Given the description of an element on the screen output the (x, y) to click on. 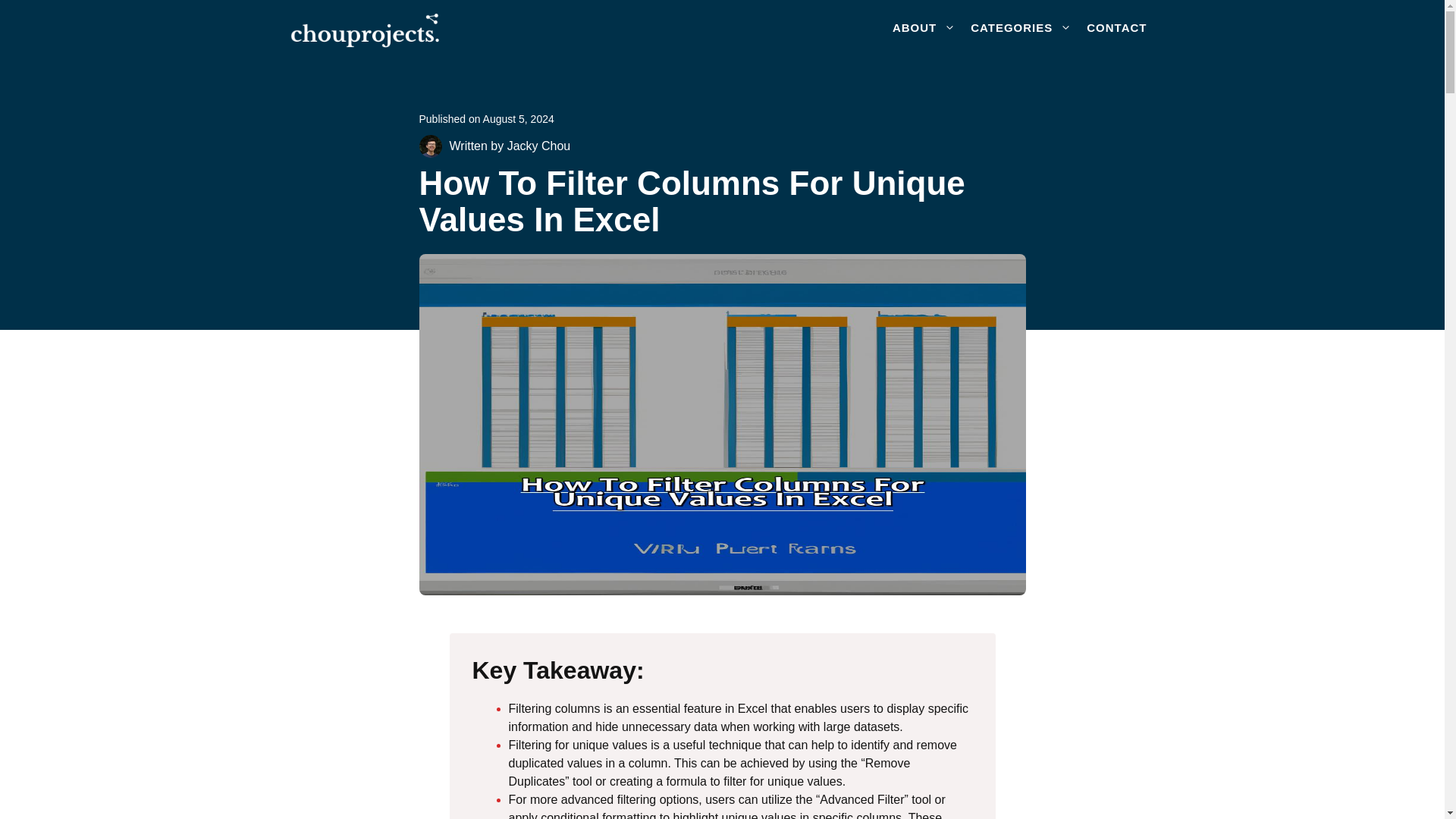
ABOUT (923, 27)
CATEGORIES (1020, 27)
CONTACT (1116, 27)
